Given the description of an element on the screen output the (x, y) to click on. 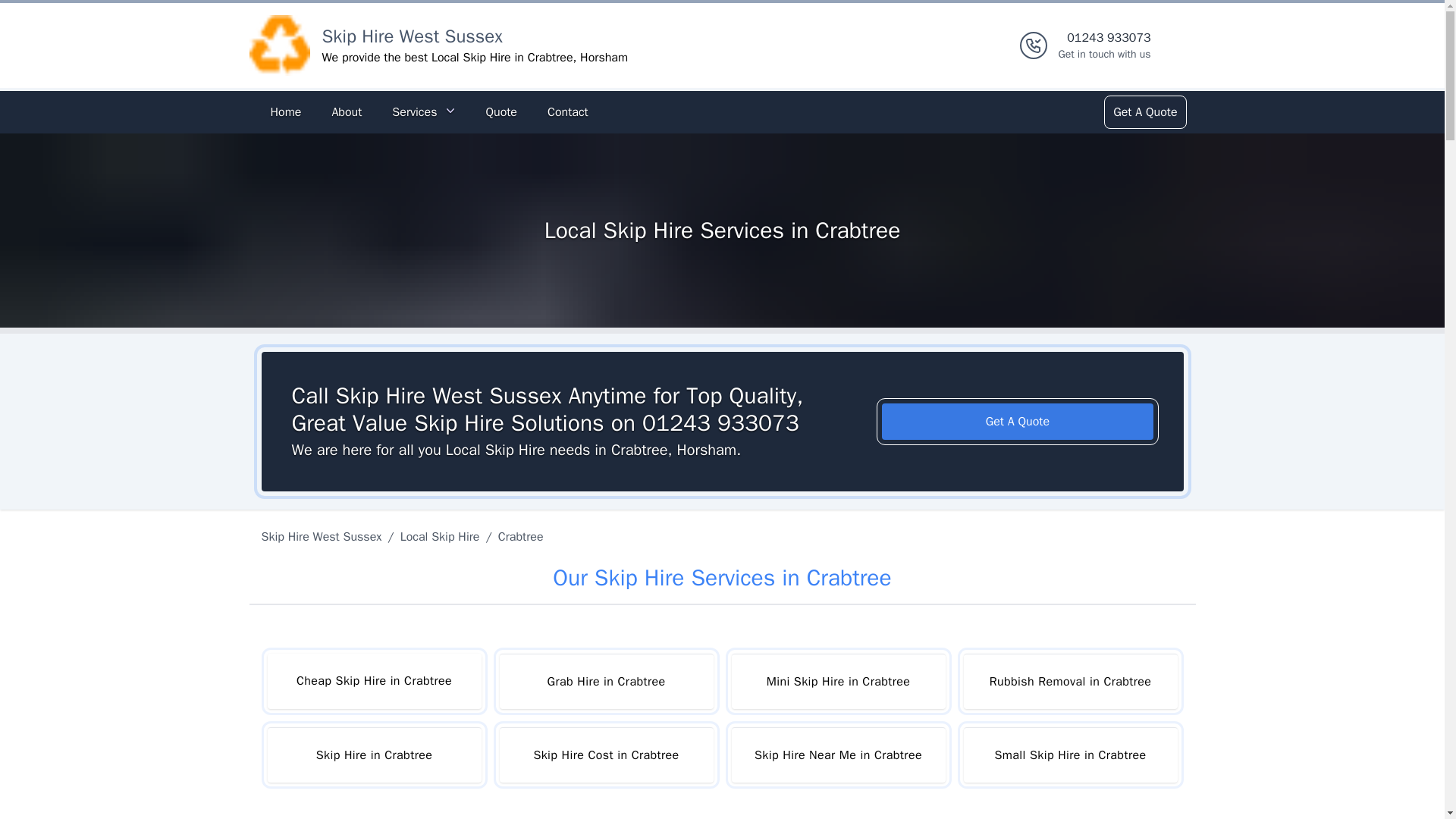
Rubbish Removal in Crabtree (1069, 681)
Logo (278, 45)
Home (285, 112)
Skip Hire in Crabtree (373, 754)
Get A Quote (1017, 421)
Skip Hire Near Me in Crabtree (837, 754)
Get A Quote (1144, 112)
Mini Skip Hire in Crabtree (837, 681)
Contact (567, 112)
Small Skip Hire in Crabtree (1069, 754)
